Given the description of an element on the screen output the (x, y) to click on. 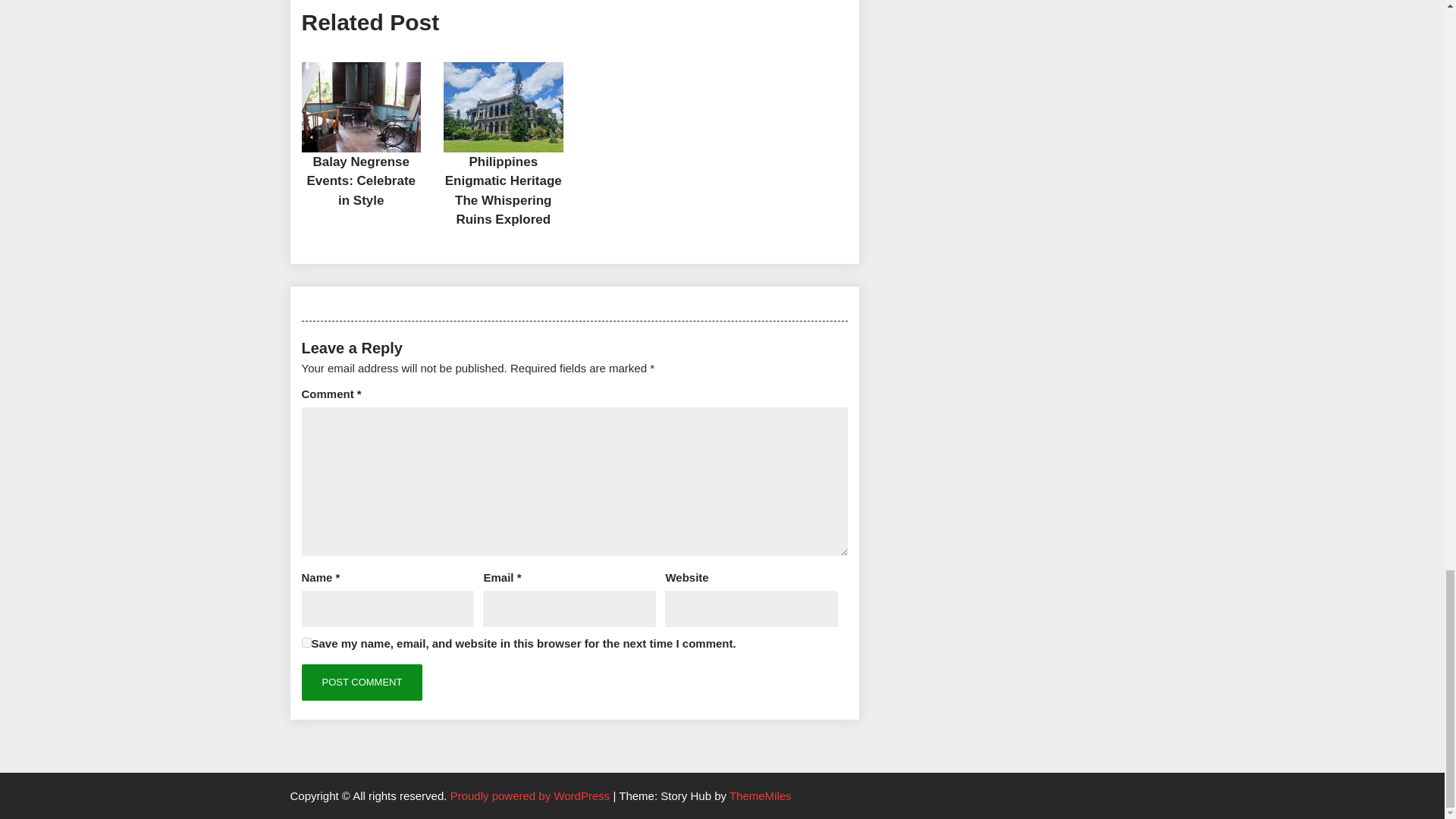
ThemeMiles (760, 795)
Proudly powered by WordPress (530, 795)
Post Comment (362, 682)
yes (306, 642)
Post Comment (362, 682)
Philippines Enigmatic Heritage The Whispering Ruins Explored (503, 190)
Balay Negrense Events: Celebrate in Style (359, 181)
